Given the description of an element on the screen output the (x, y) to click on. 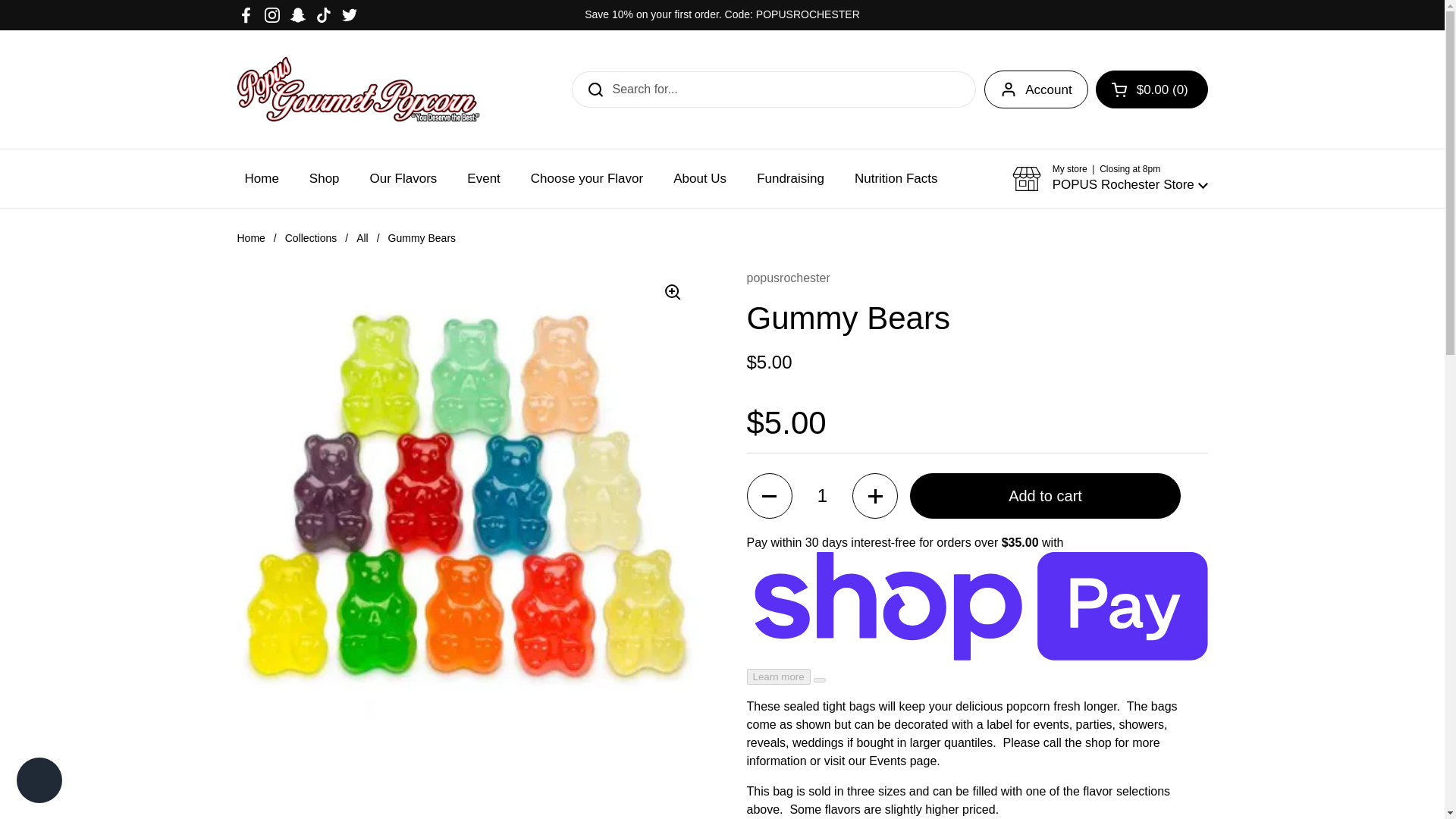
1 (821, 495)
All (362, 237)
About Us (699, 178)
Open cart (1152, 89)
Event (483, 178)
Shop (324, 178)
Instagram (271, 14)
Our Flavors (403, 178)
Fundraising (790, 178)
